Given the description of an element on the screen output the (x, y) to click on. 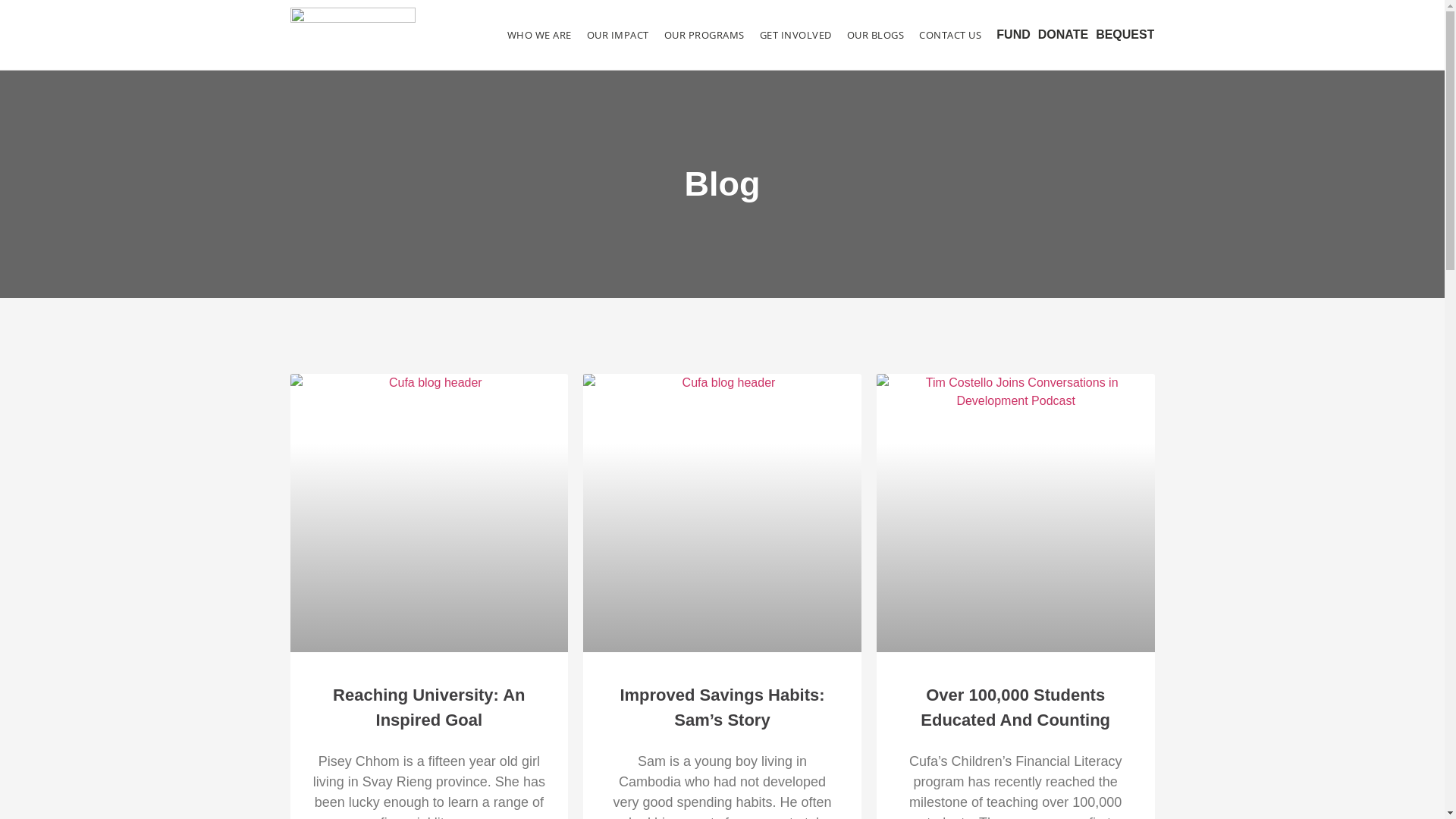
BEQUEST Element type: text (1124, 34)
FUND Element type: text (1012, 34)
OUR BLOGS Element type: text (875, 35)
Reaching University: An Inspired Goal Element type: text (428, 707)
GET INVOLVED Element type: text (795, 35)
OUR IMPACT Element type: text (617, 35)
CONTACT US Element type: text (950, 35)
WHO WE ARE Element type: text (539, 35)
DONATE Element type: text (1063, 34)
OUR PROGRAMS Element type: text (704, 35)
Over 100,000 Students Educated And Counting Element type: text (1015, 707)
